Given the description of an element on the screen output the (x, y) to click on. 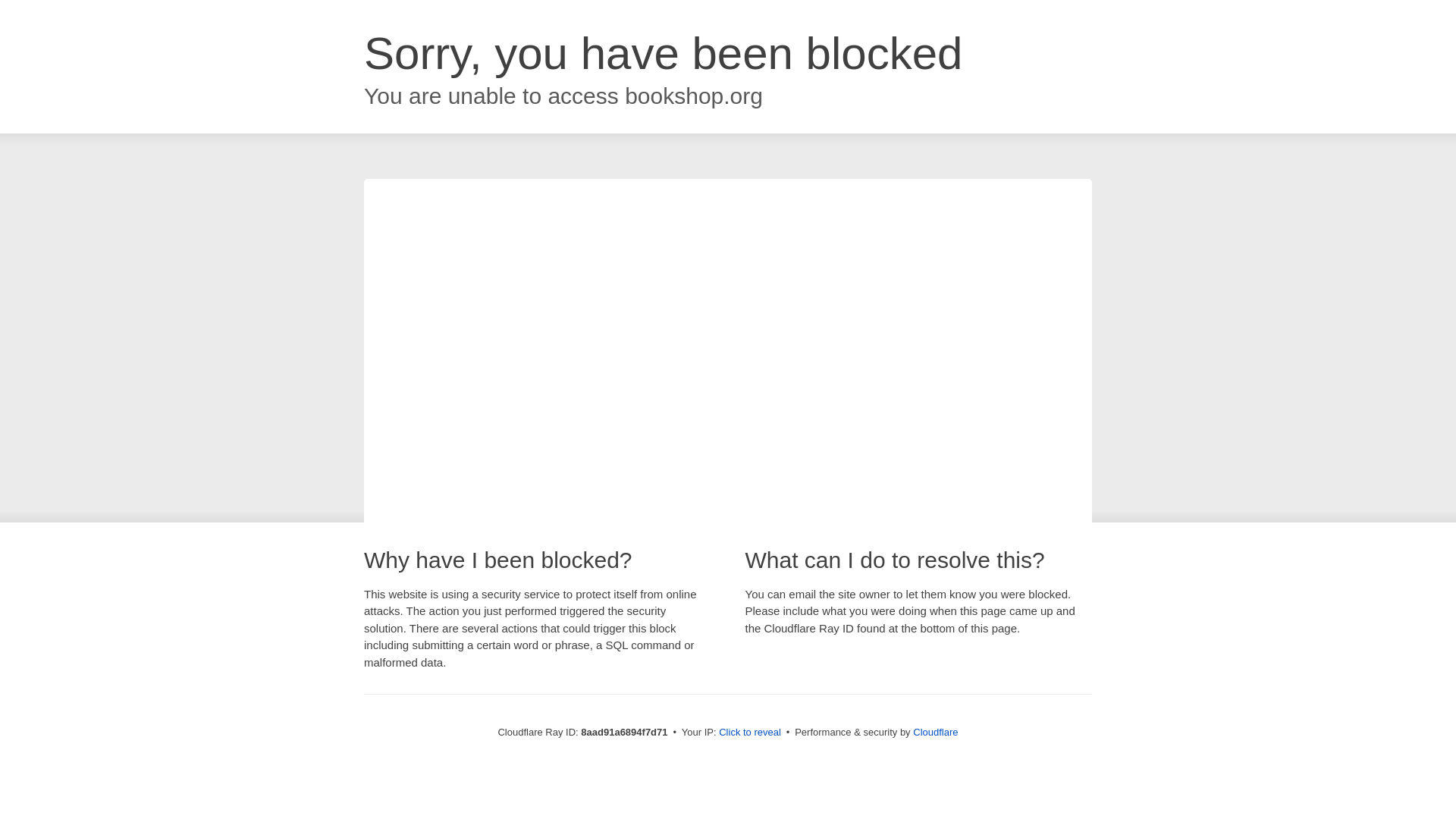
Cloudflare (935, 731)
Click to reveal (749, 732)
